Given the description of an element on the screen output the (x, y) to click on. 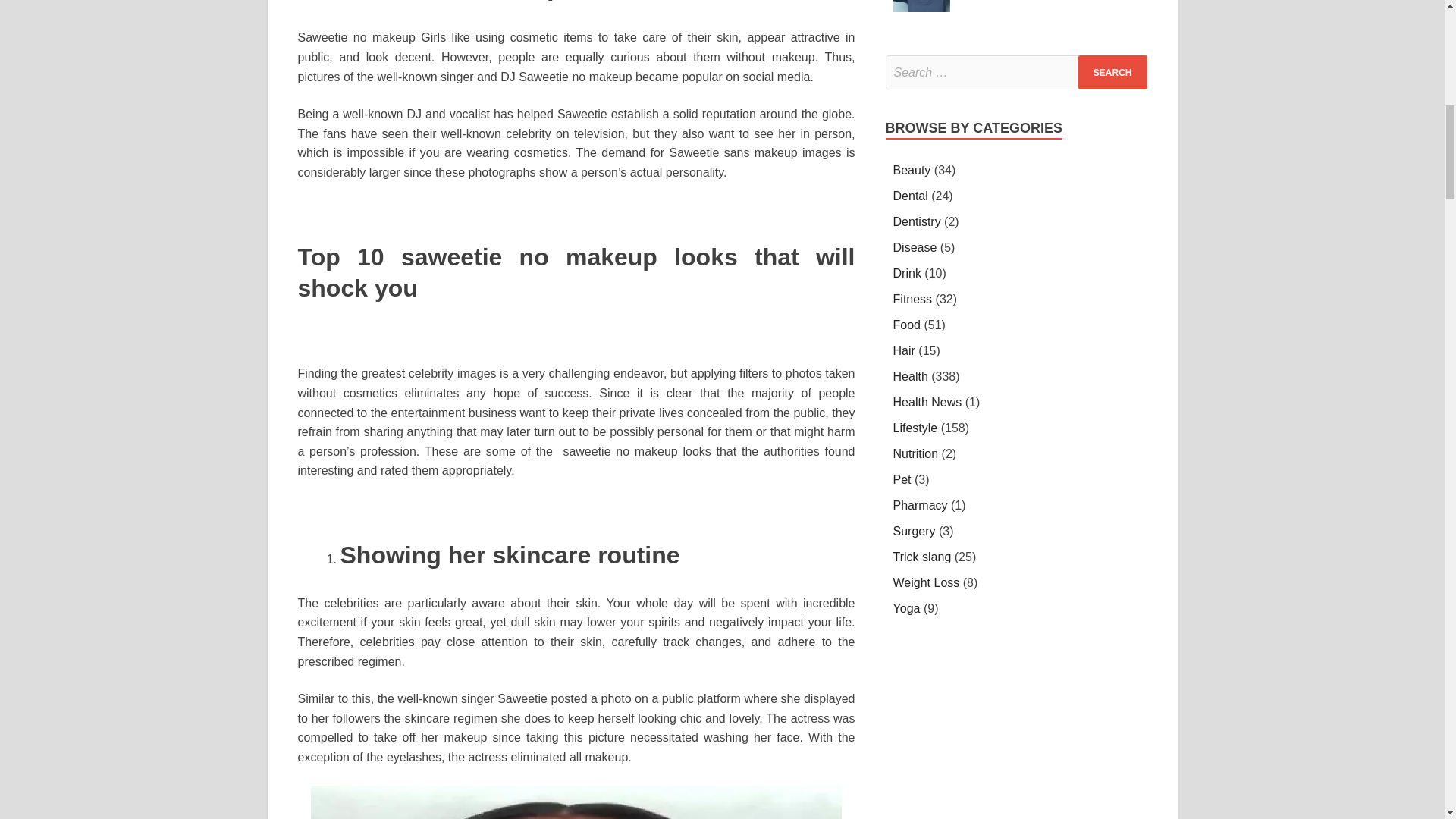
Search (1112, 72)
Search (1112, 72)
